Given the description of an element on the screen output the (x, y) to click on. 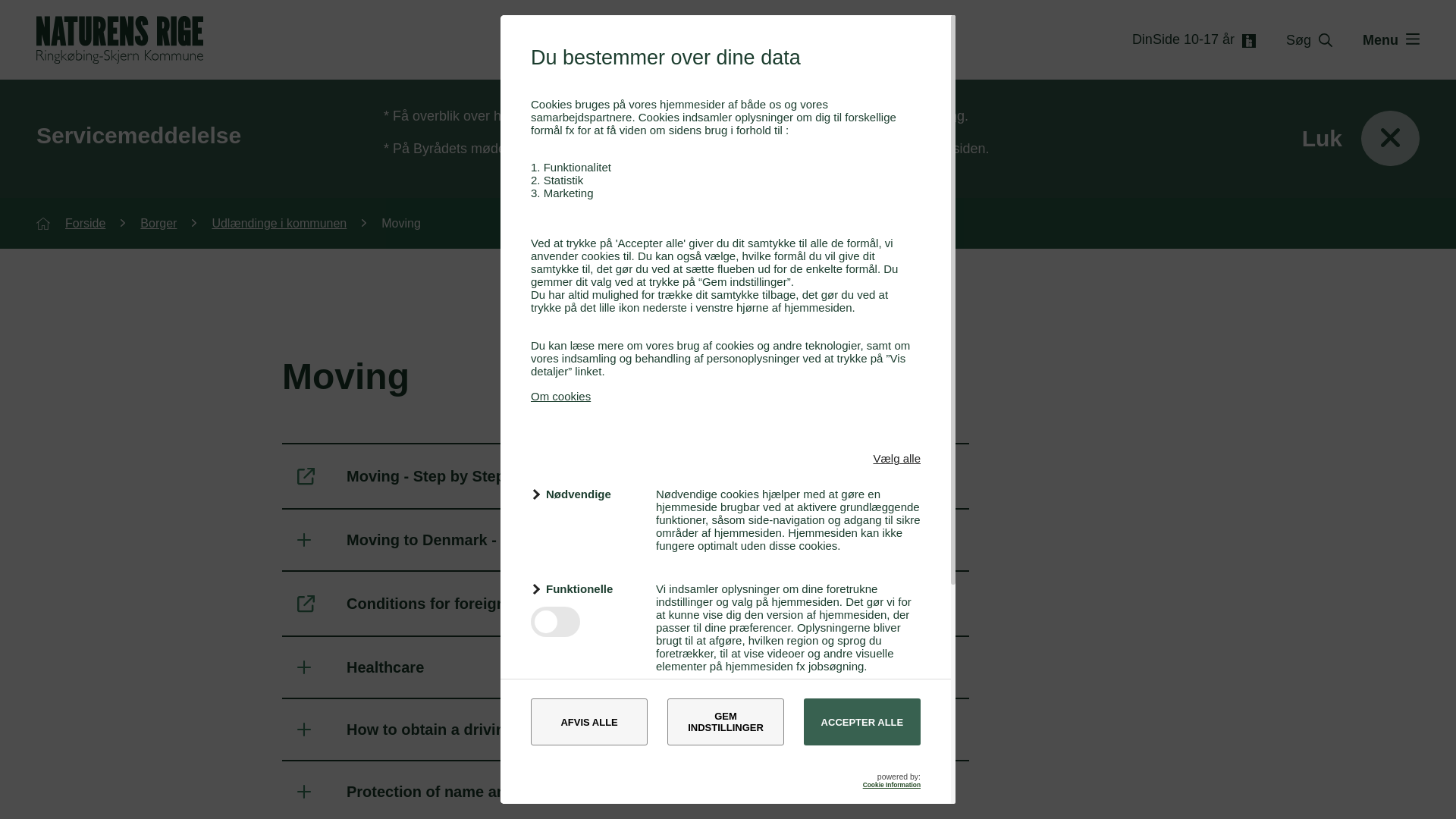
Funktionelle (584, 588)
AFVIS ALLE (589, 721)
GEM INDSTILLINGER (725, 721)
Cookie Information (891, 784)
Statistiske (584, 709)
Om cookies (561, 395)
ACCEPTER ALLE (861, 721)
